Given the description of an element on the screen output the (x, y) to click on. 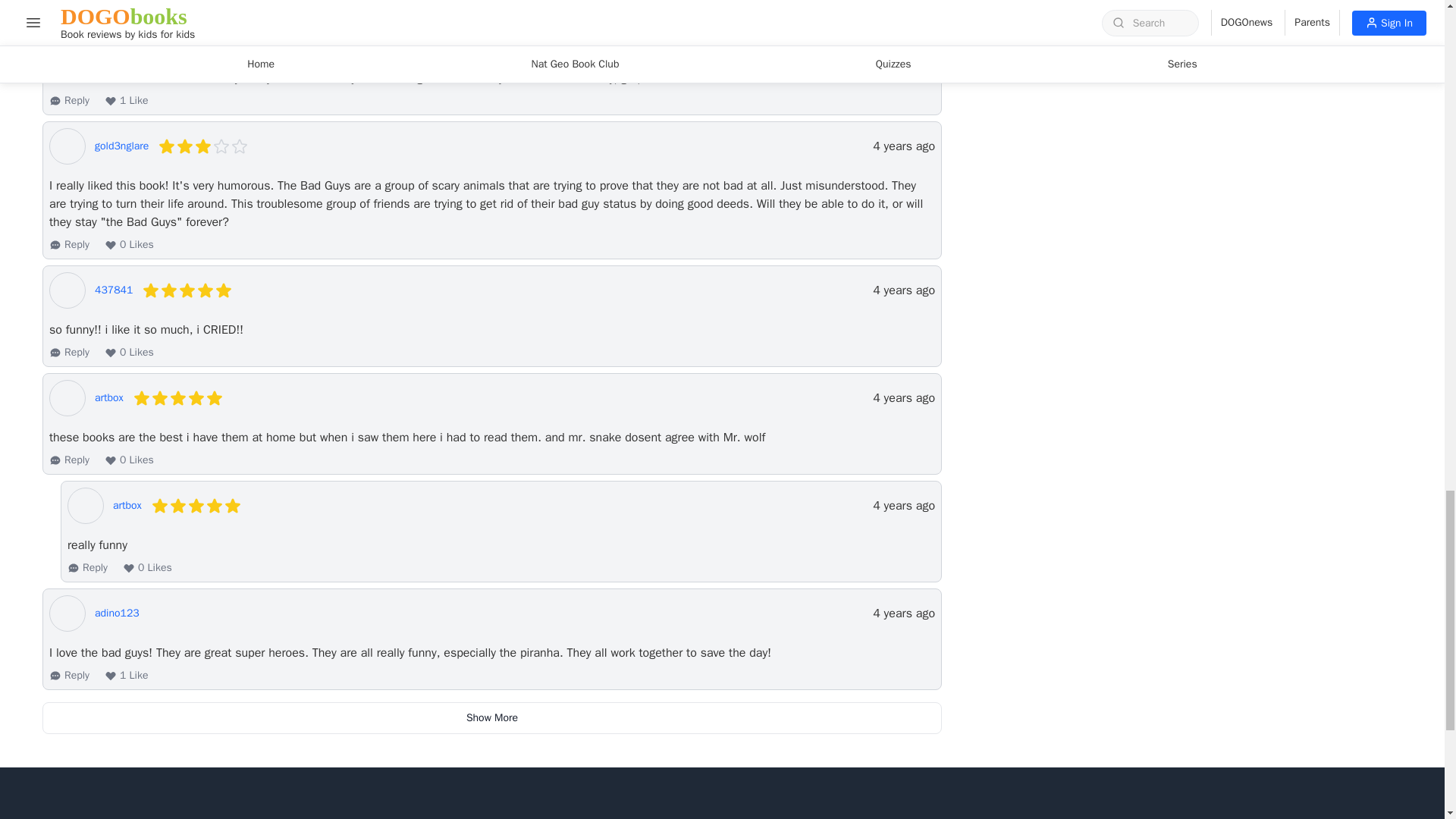
Reply (68, 100)
roccowashere (126, 38)
August 24, 2021 (903, 38)
November 14, 2020 (903, 398)
January 14, 2021 (903, 146)
1 Like (126, 0)
1 Like (126, 100)
November 14, 2020 (903, 505)
January 6, 2021 (903, 290)
gold3nglare (121, 145)
August 19, 2020 (903, 613)
